Given the description of an element on the screen output the (x, y) to click on. 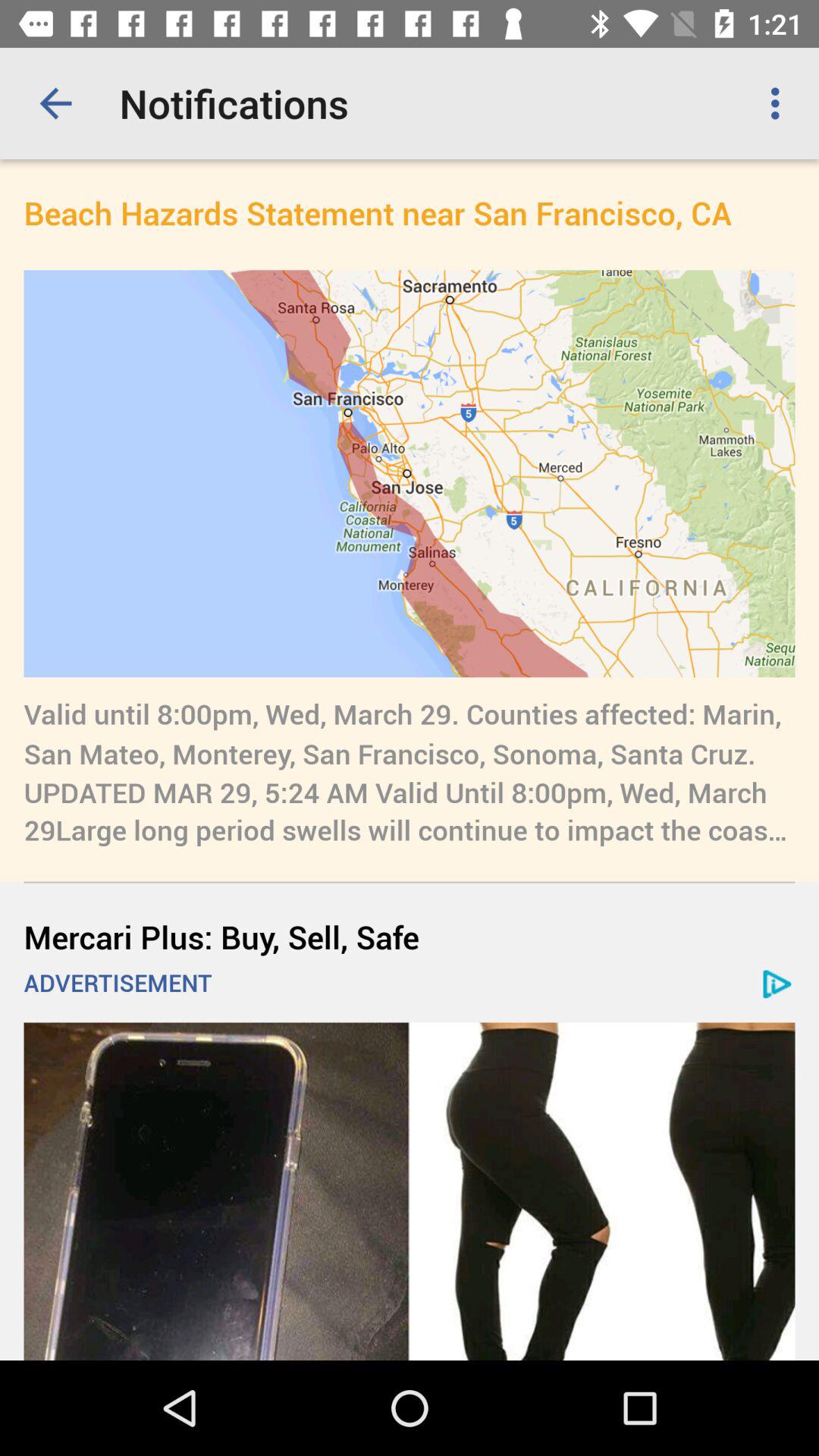
select item to the left of the notifications (55, 103)
